Given the description of an element on the screen output the (x, y) to click on. 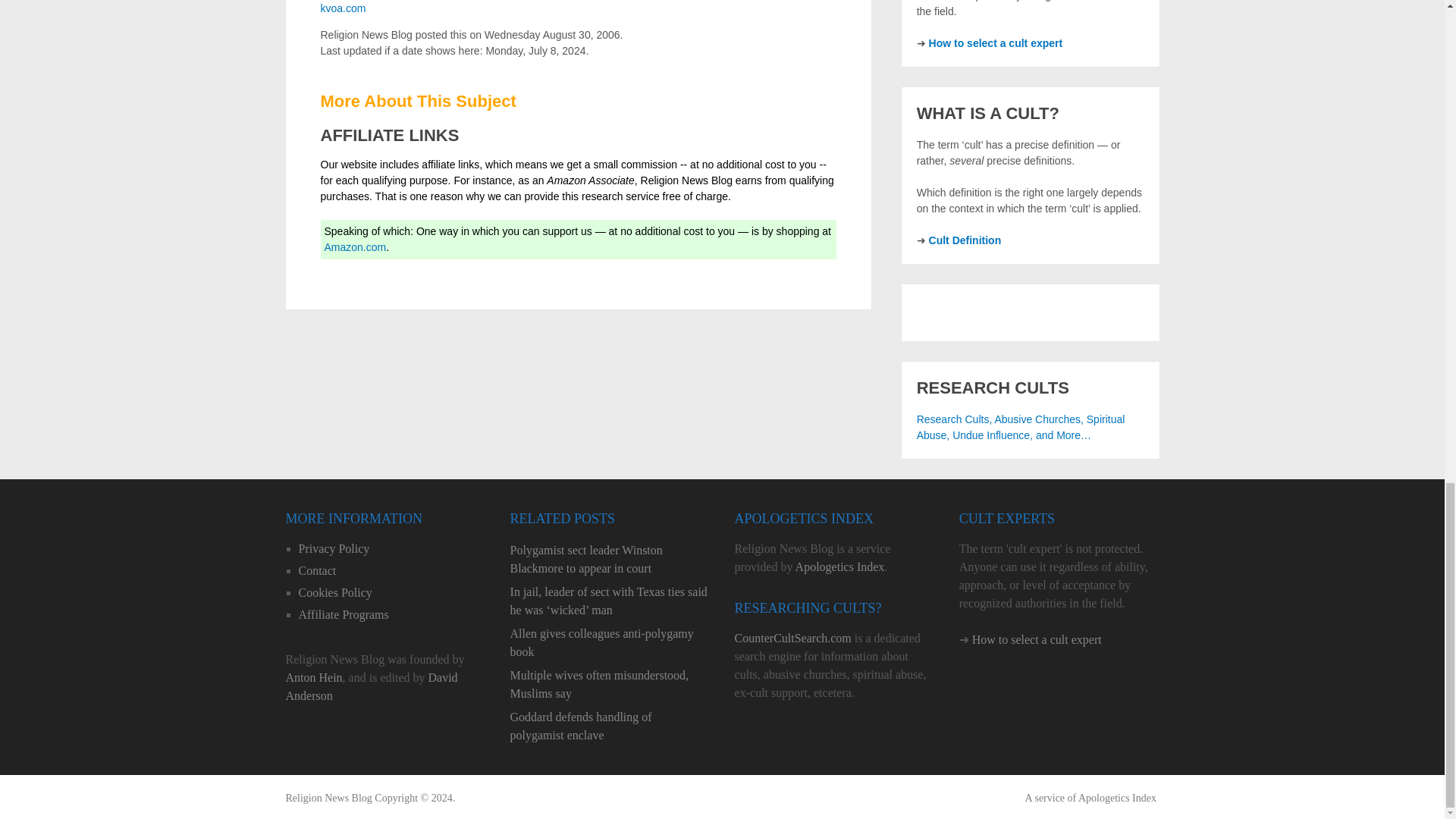
Cookies Policy (335, 592)
Cult Definition (964, 240)
Polygamist sect leader Winston Blackmore to appear in court (610, 559)
Allen gives colleagues anti-polygamy book (610, 642)
Goddard defends handling of polygamist enclave (610, 726)
kvoa.com (342, 8)
Multiple wives often misunderstood, Muslims say (610, 684)
Affiliate Programs (343, 614)
 Religion news: religious cults, sects, and world religions (328, 797)
Contact (317, 570)
